Given the description of an element on the screen output the (x, y) to click on. 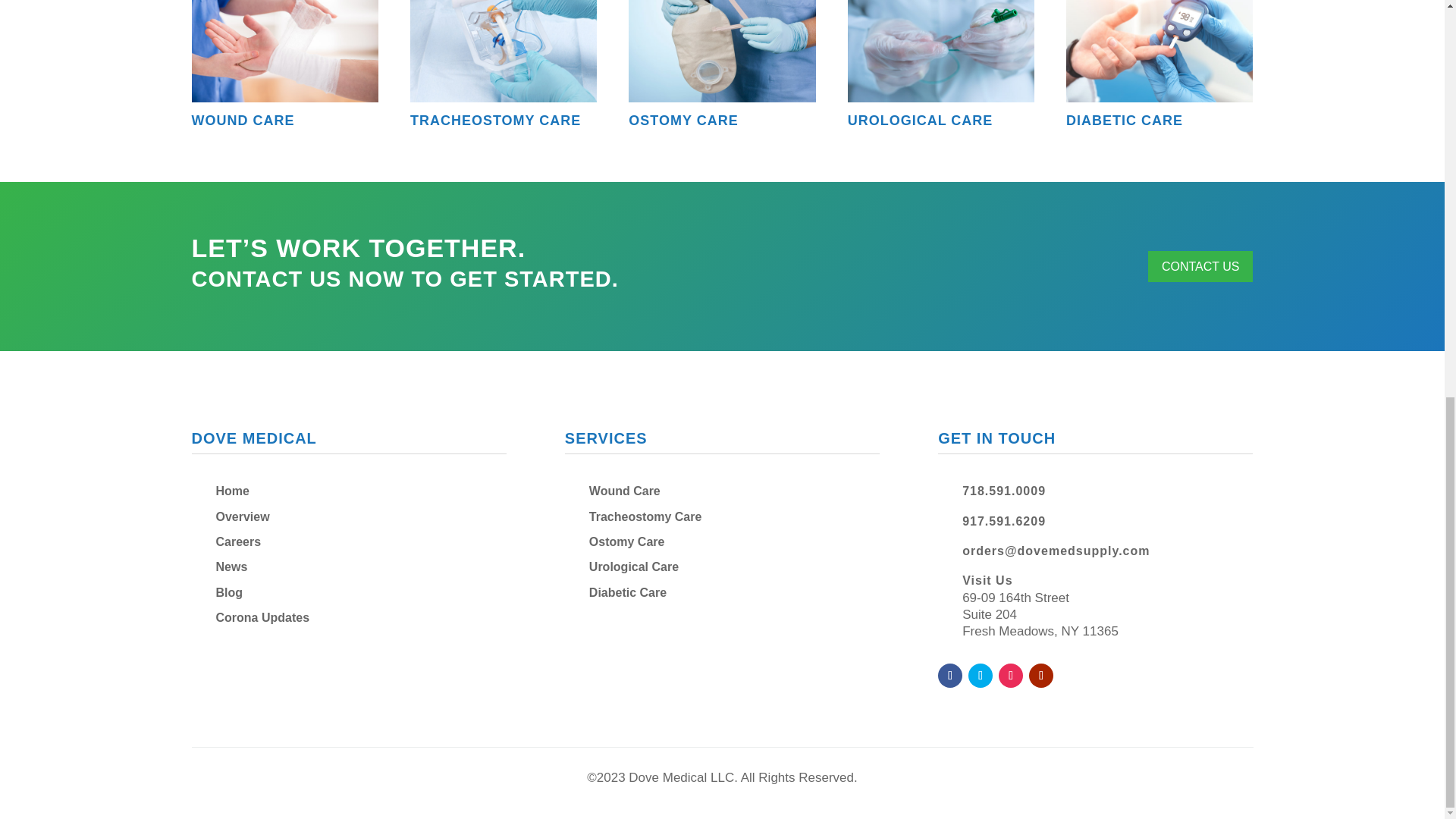
Overview (242, 516)
TRACHEOSTOMY CARE (495, 120)
Follow on Youtube (1040, 675)
WOUND CARE (242, 120)
Follow on Twitter (980, 675)
OSTOMY CARE (683, 120)
CONTACT US (1200, 265)
Home (231, 490)
Follow on Facebook (949, 675)
UROLOGICAL CARE (919, 120)
Follow on Instagram (1010, 675)
